Given the description of an element on the screen output the (x, y) to click on. 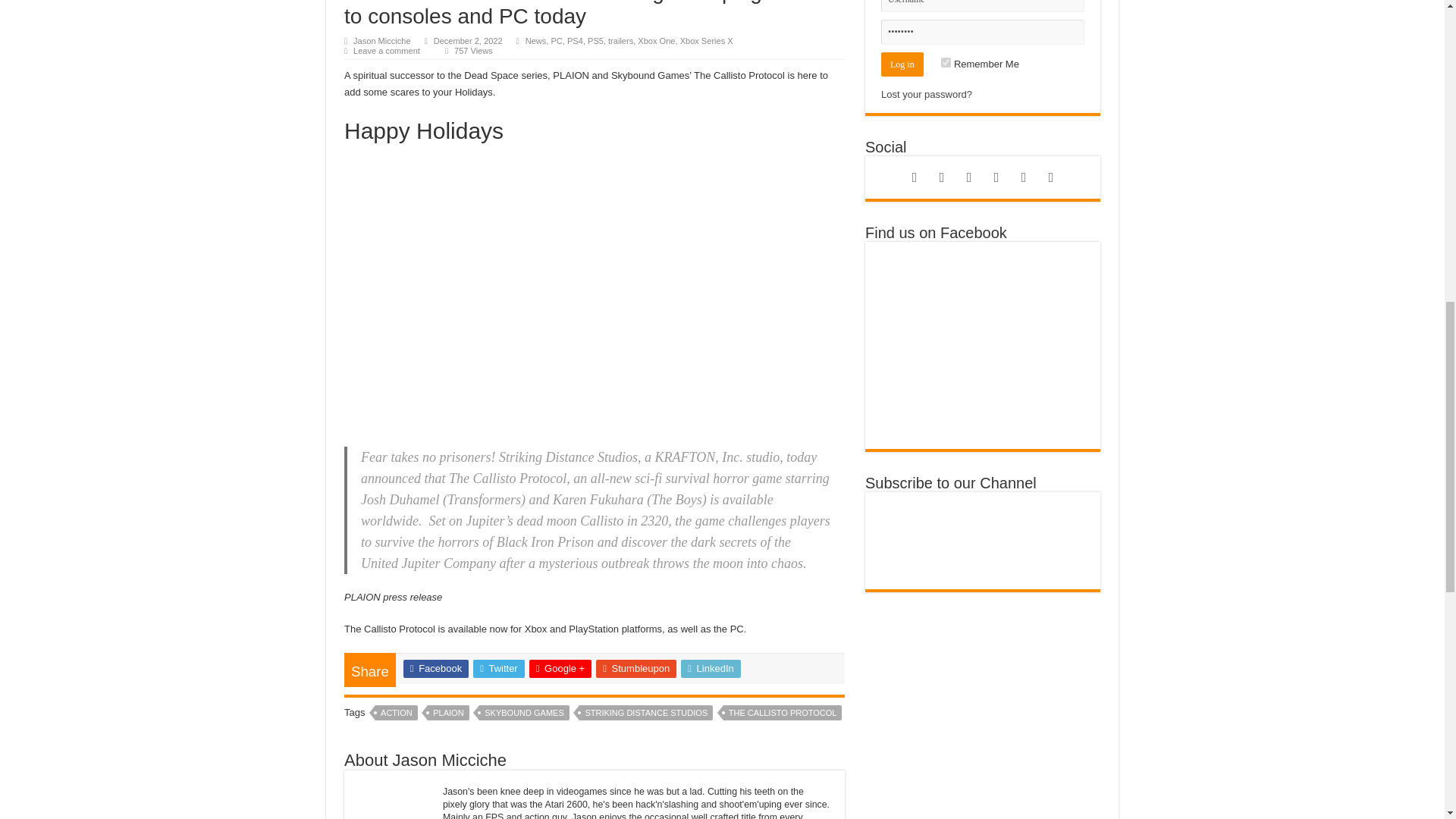
Log in (901, 64)
forever (945, 62)
Username (982, 6)
Password (982, 32)
